Given the description of an element on the screen output the (x, y) to click on. 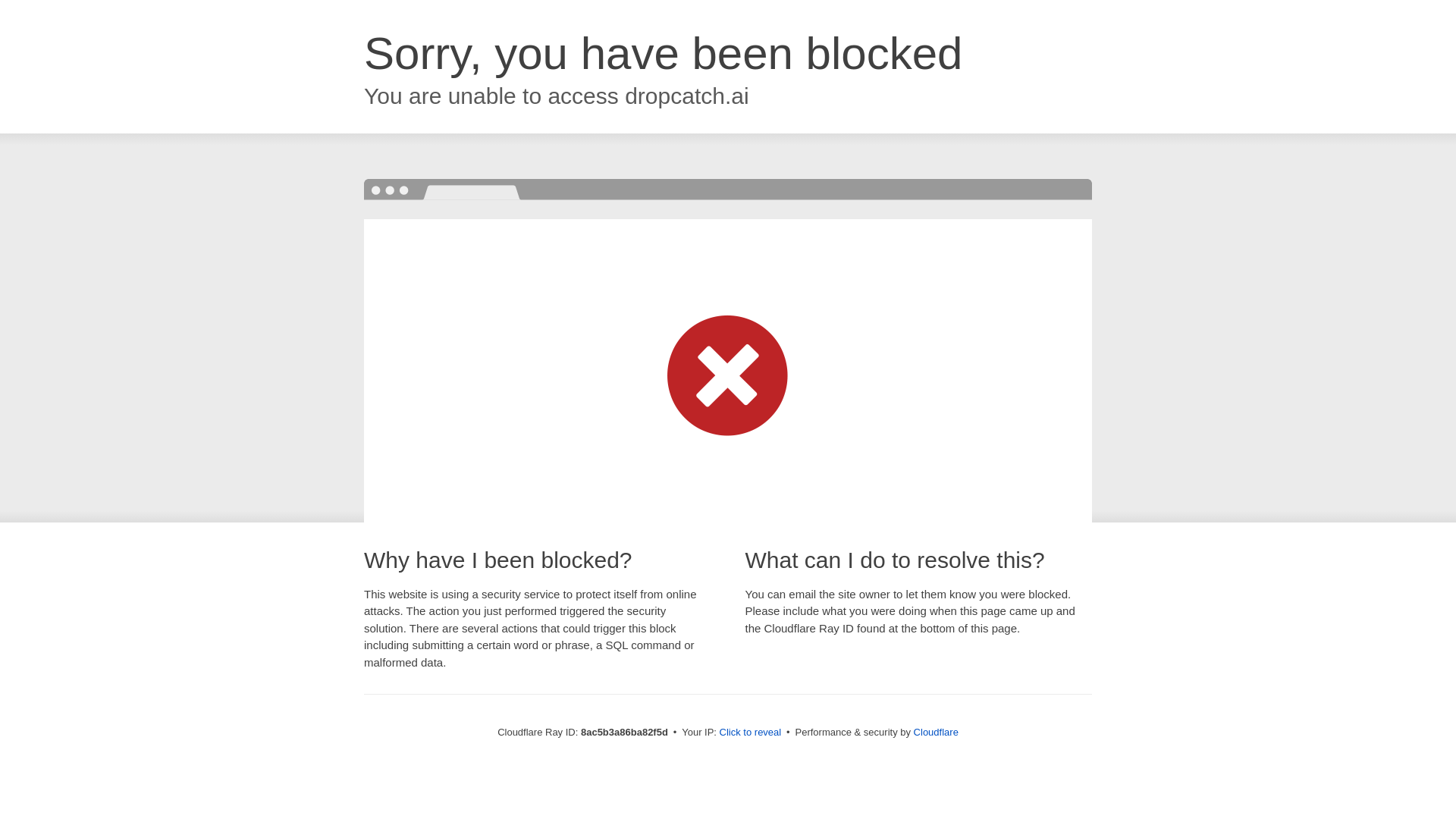
Click to reveal (750, 732)
Cloudflare (936, 731)
